Given the description of an element on the screen output the (x, y) to click on. 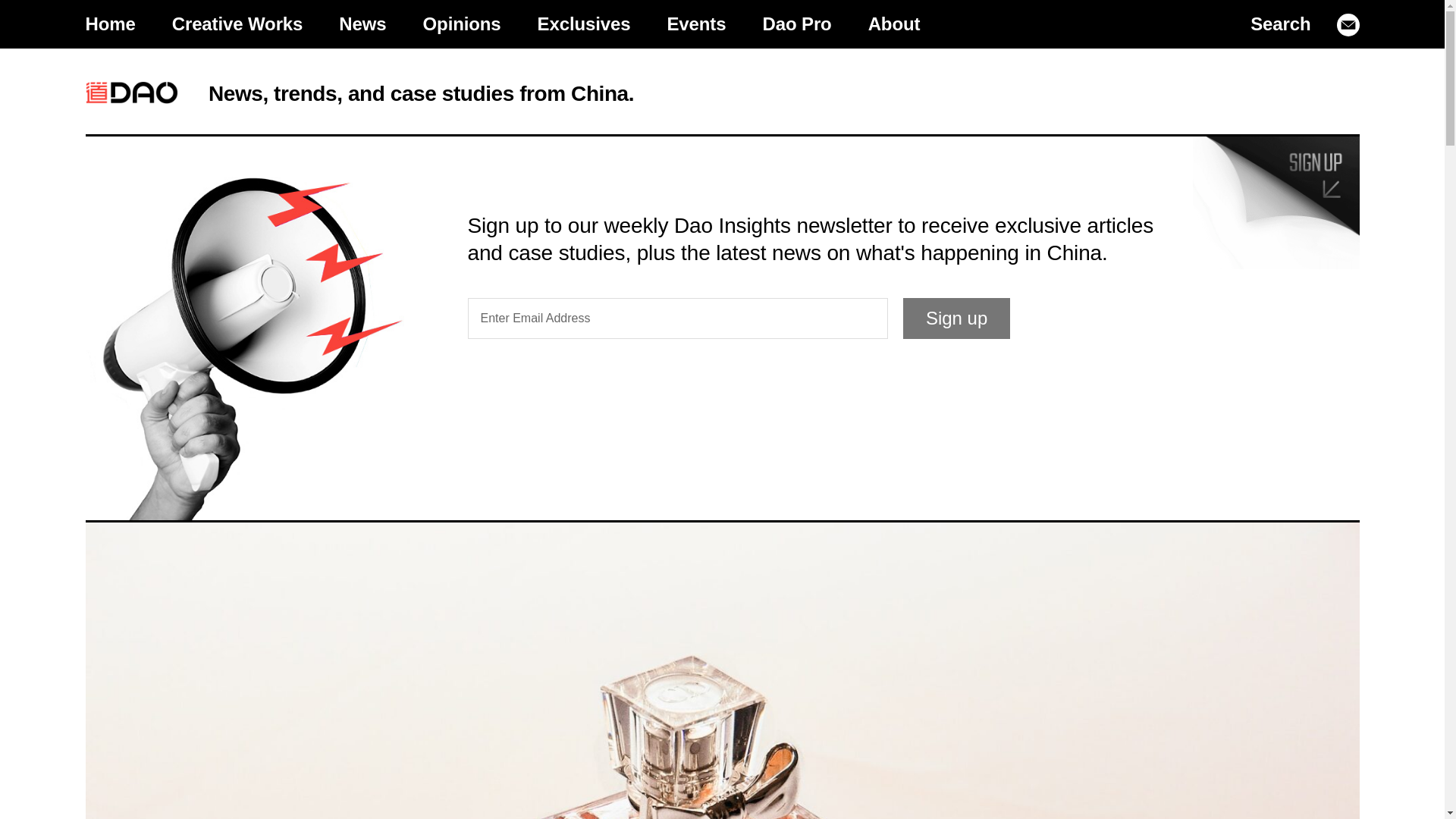
Sign up (956, 318)
About (894, 24)
Dao Pro (796, 24)
Sign up (956, 318)
Dao Insights (130, 92)
Events (695, 24)
Home (109, 24)
Opinions (461, 24)
Search (1279, 24)
Creative Works (237, 24)
News (362, 24)
Exclusives (584, 24)
